Given the description of an element on the screen output the (x, y) to click on. 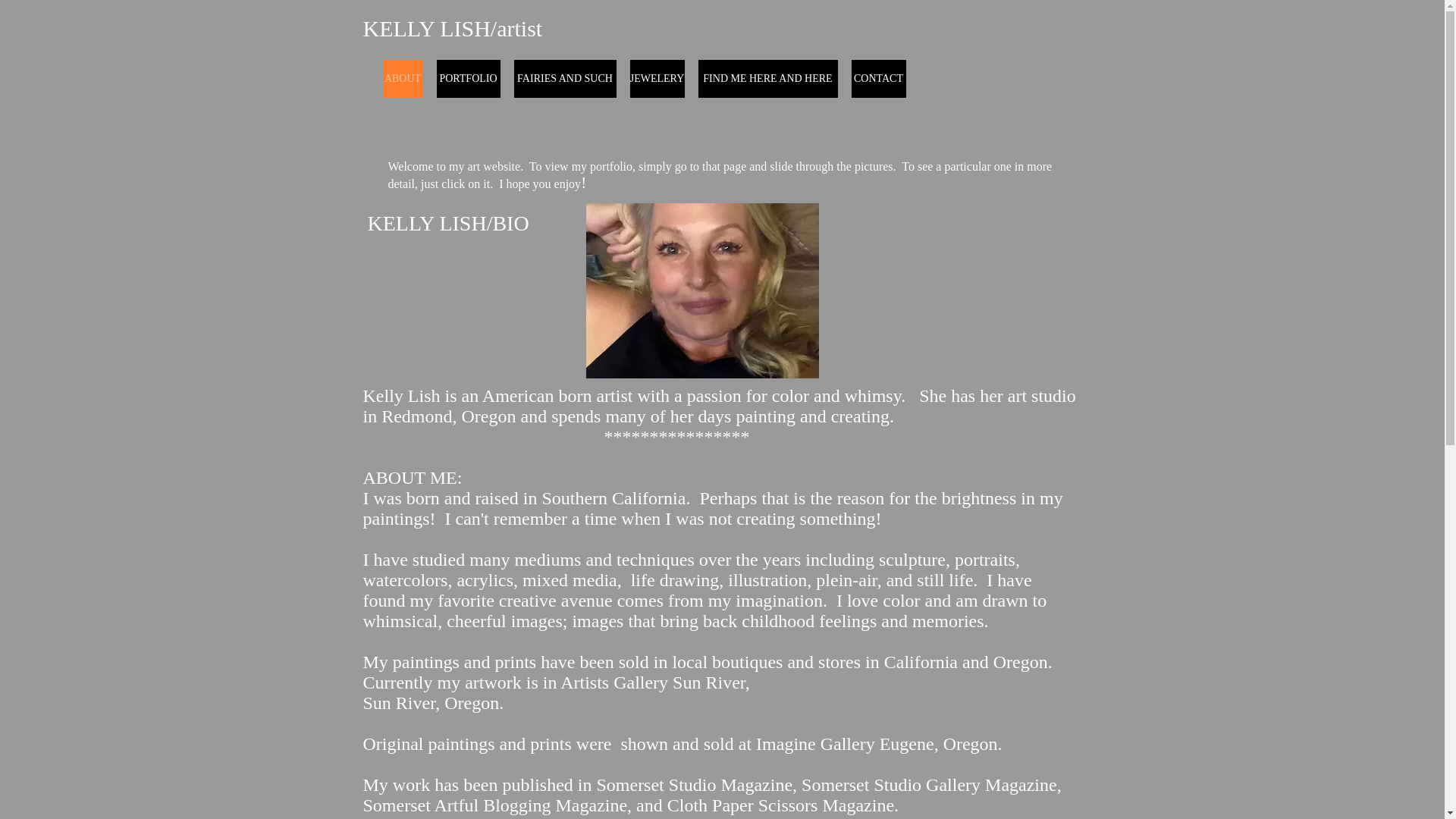
PORTFOLIO (468, 78)
61791583-B21E-4C42-9245-446E79FAF151.hei (701, 290)
JEWELERY (656, 78)
CONTACT (877, 78)
FAIRIES AND SUCH (564, 78)
ABOUT (401, 78)
FIND ME HERE AND HERE (767, 78)
